Given the description of an element on the screen output the (x, y) to click on. 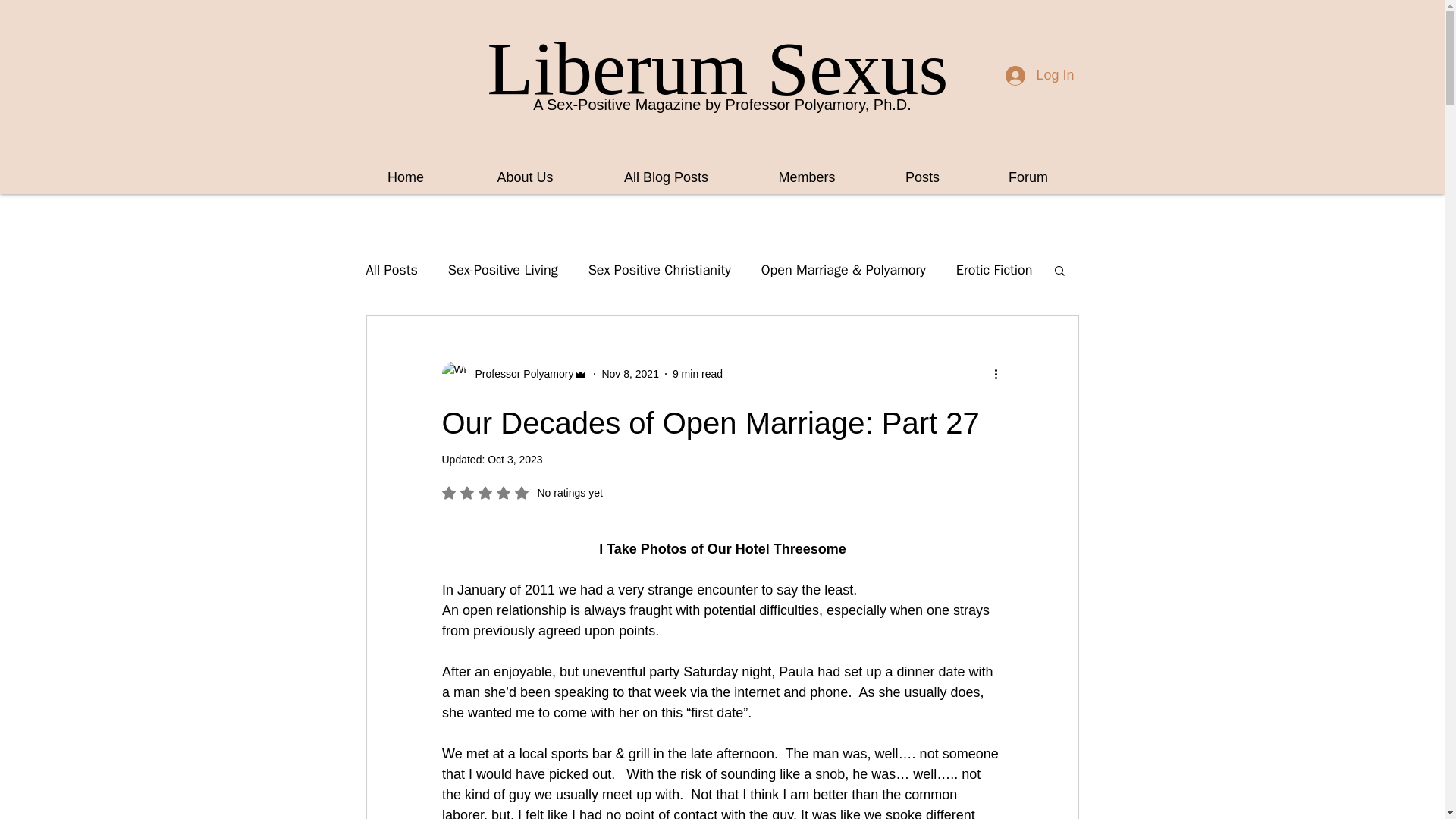
Nov 8, 2021 (630, 373)
Forum (1027, 170)
All Posts (521, 492)
Liberum Sexus (390, 270)
Home (716, 68)
Sex Positive Christianity (405, 170)
Members (659, 270)
Posts (806, 170)
About Us (922, 170)
